Given the description of an element on the screen output the (x, y) to click on. 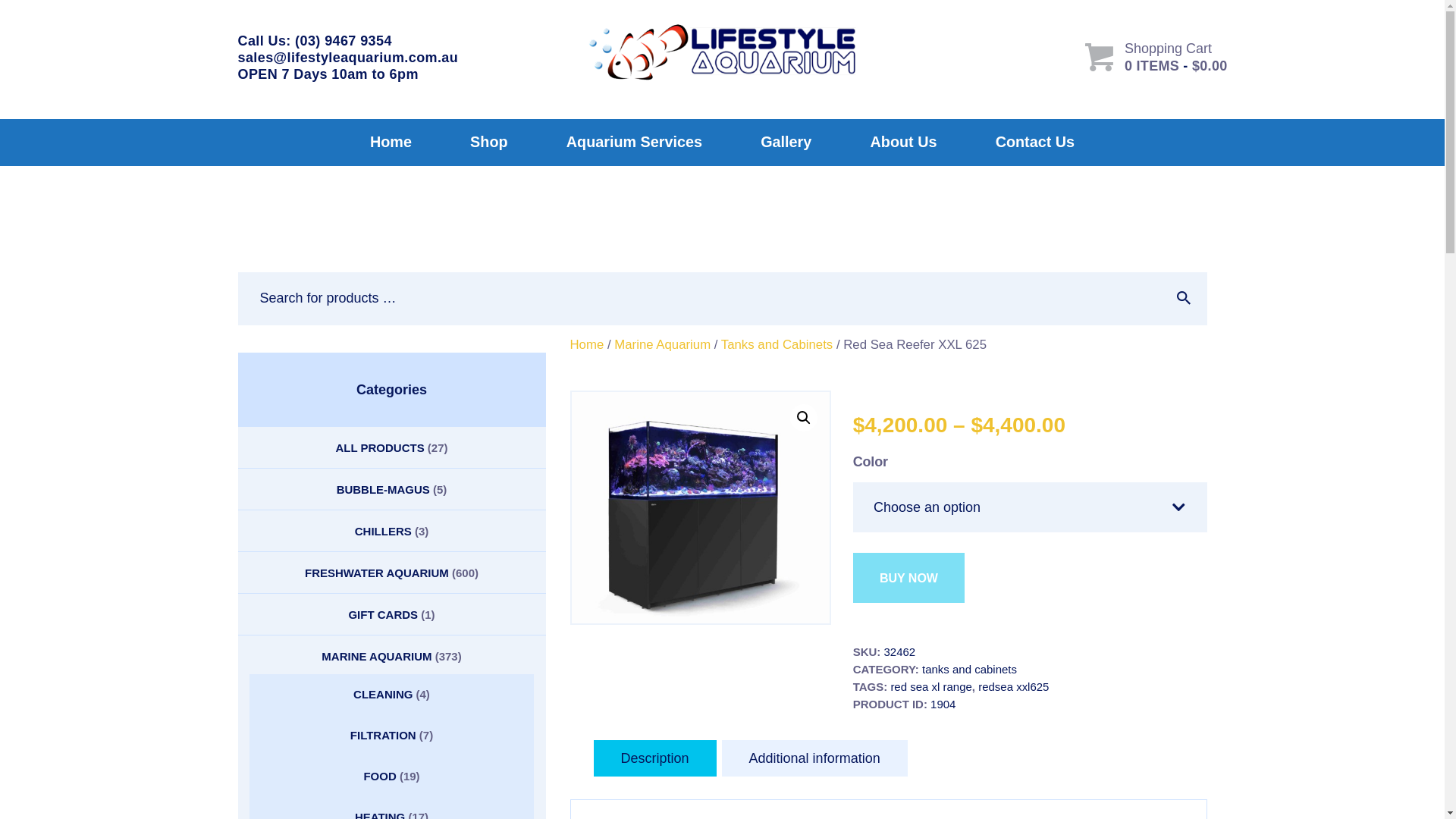
0 ITEMS Element type: text (1151, 65)
Marine Aquarium Element type: text (662, 344)
CLEANING Element type: text (382, 693)
redsea xxl625 Element type: text (1013, 686)
REEFER_XXL_625_Black-1.jpg Element type: hover (700, 507)
Aquarium Services Element type: text (633, 142)
About Us Element type: text (903, 142)
Gallery Element type: text (785, 142)
BUBBLE-MAGUS Element type: text (382, 489)
Shopping Cart Element type: text (1167, 48)
BUY NOW Element type: text (908, 577)
red sea xl range Element type: text (930, 686)
MARINE AQUARIUM Element type: text (376, 655)
FOOD Element type: text (379, 775)
$0.00 Element type: text (1209, 65)
Tanks and Cabinets Element type: text (776, 344)
GIFT CARDS Element type: text (382, 614)
ALL PRODUCTS Element type: text (379, 447)
Description Element type: text (654, 758)
CHILLERS Element type: text (382, 530)
Contact Us Element type: text (1035, 142)
Home Element type: text (390, 142)
Shop Element type: text (489, 142)
FRESHWATER AQUARIUM Element type: text (376, 572)
Home Element type: text (587, 344)
Additional information Element type: text (814, 758)
tanks and cabinets Element type: text (969, 668)
FILTRATION Element type: text (383, 734)
